Given the description of an element on the screen output the (x, y) to click on. 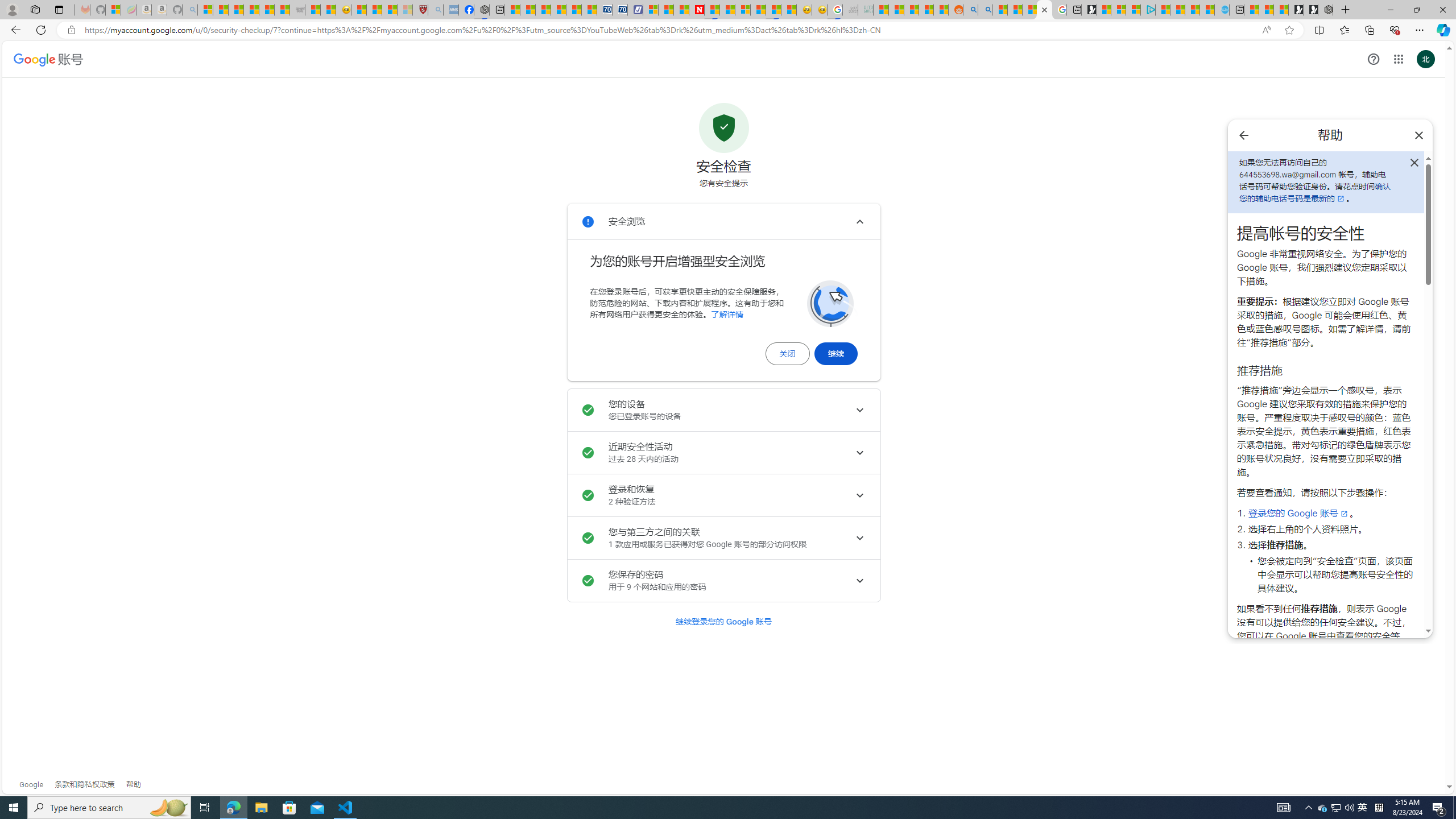
Class: gb_E (1398, 59)
Cheap Hotels - Save70.com (619, 9)
